Given the description of an element on the screen output the (x, y) to click on. 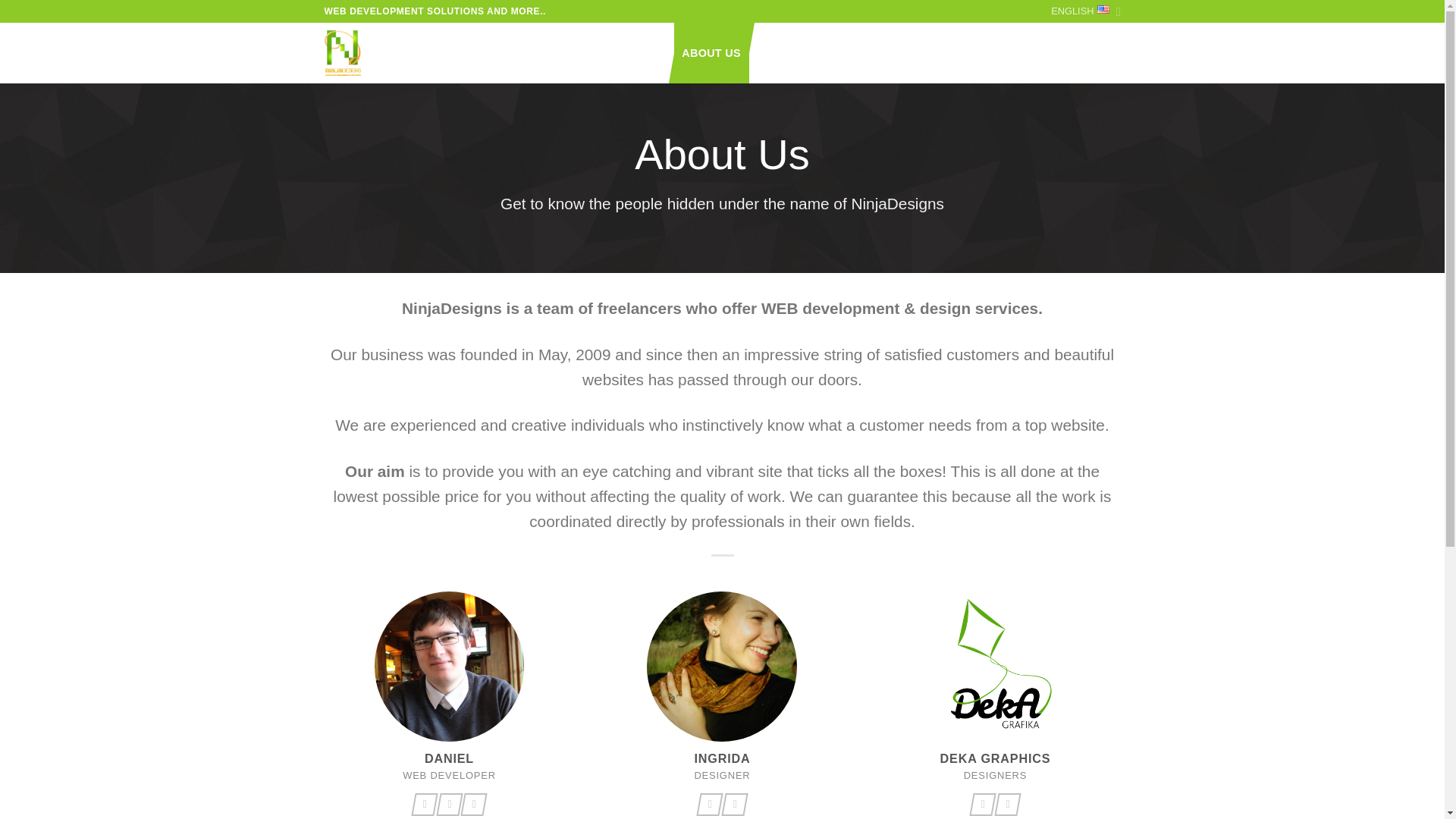
Send us an email (1005, 804)
NinjaDesigns - WEB dizainas ir programavimas (357, 52)
Follow on Facebook (980, 804)
Send us an email (446, 804)
CONTACT US (793, 52)
Follow on LinkedIn (472, 804)
Follow on Twitter (1076, 53)
ENGLISH (1085, 11)
Follow on Facebook (708, 804)
PORTFOLIO (502, 52)
Send us an email (1104, 53)
Follow on Facebook (421, 804)
Send us an email (732, 804)
ABOUT US (711, 52)
